Given the description of an element on the screen output the (x, y) to click on. 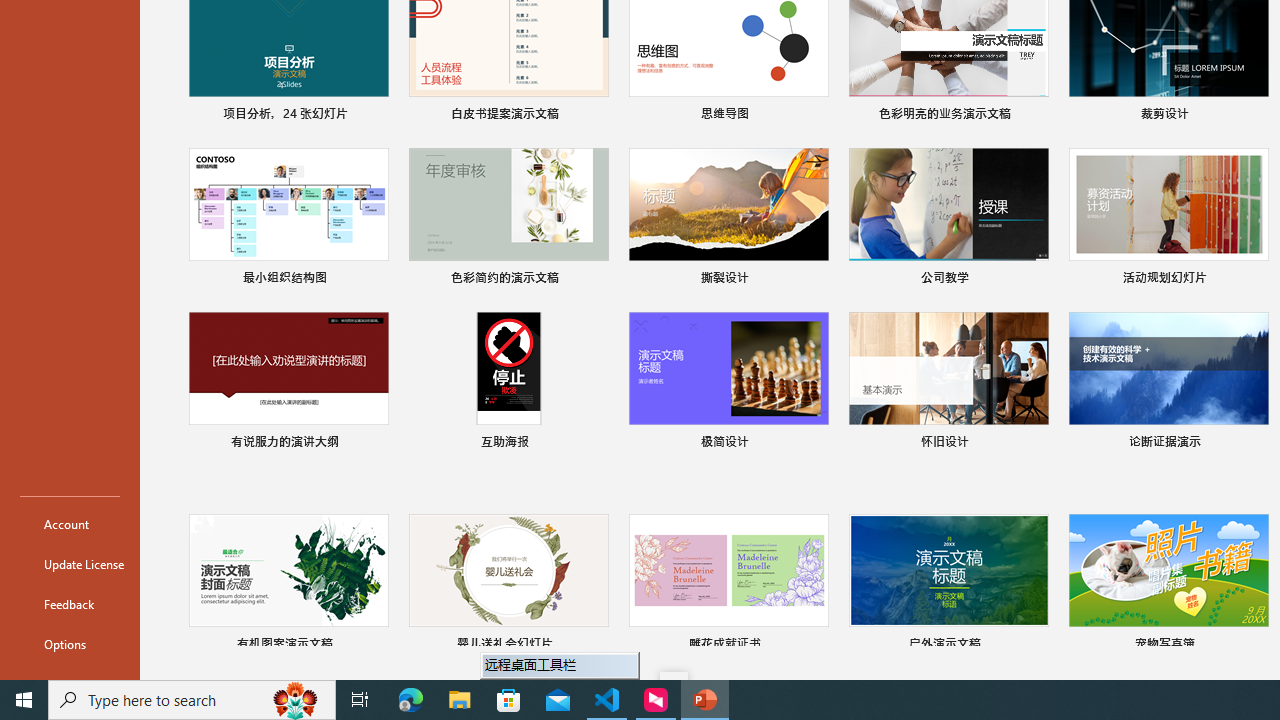
Account (69, 523)
Update License (69, 563)
Pin to list (1255, 645)
